Given the description of an element on the screen output the (x, y) to click on. 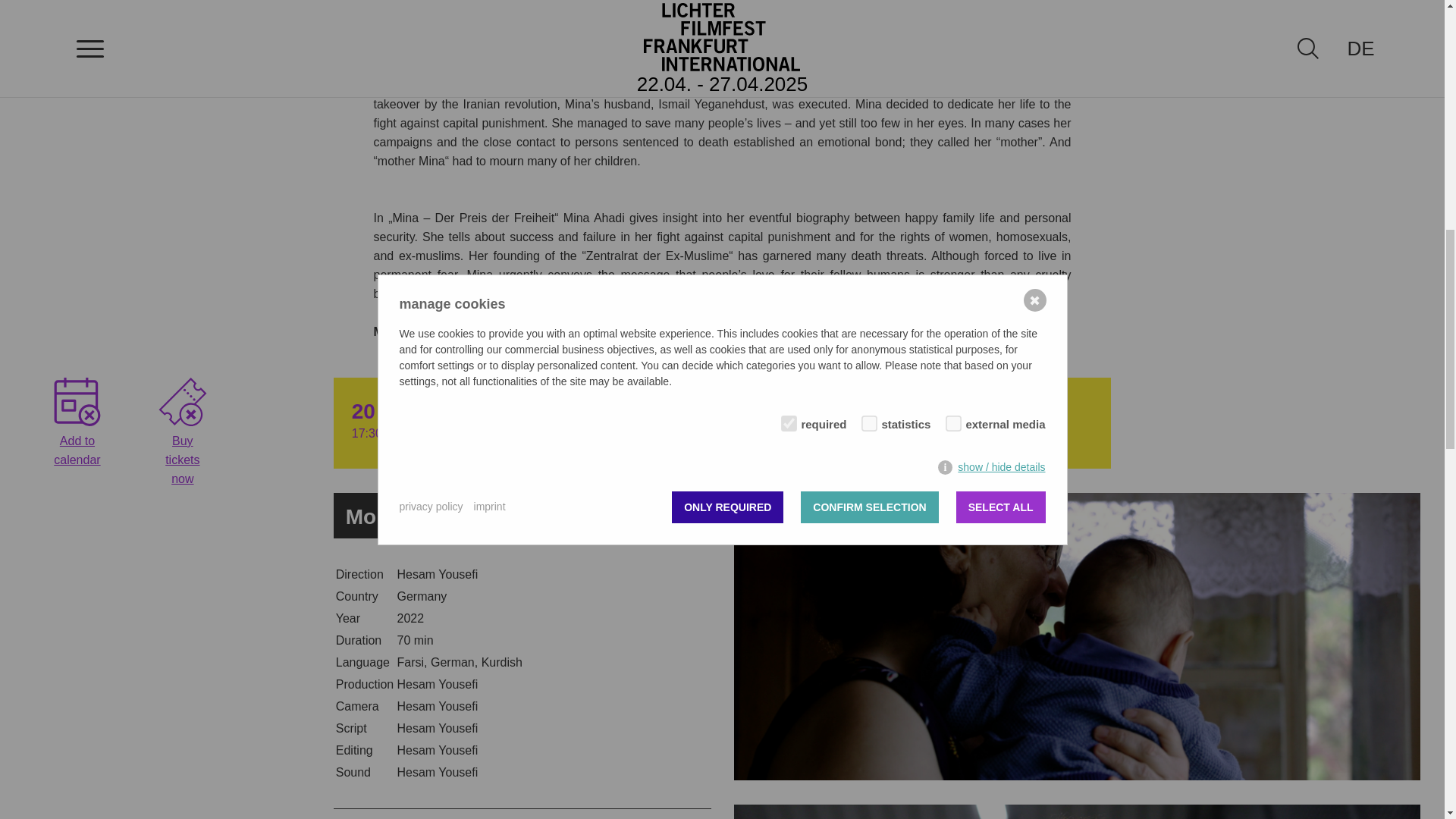
Lichter Filmfest (182, 401)
Lichter Filmfest (76, 401)
Lichter Filmfest (686, 516)
